Given the description of an element on the screen output the (x, y) to click on. 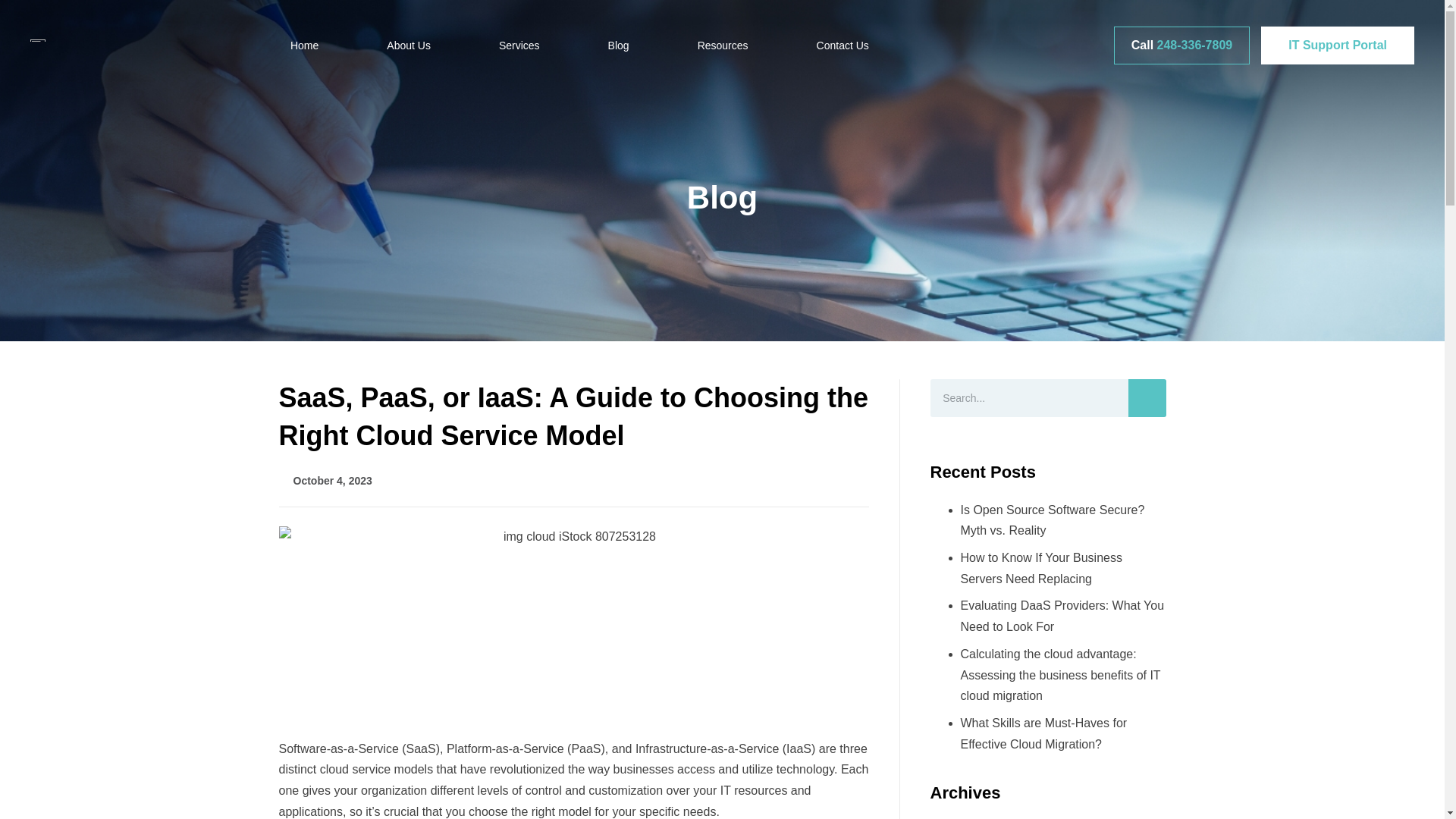
Contact Us (842, 45)
Blog (618, 45)
About Us (407, 45)
Home (303, 45)
Resources (723, 45)
Services (519, 45)
